Given the description of an element on the screen output the (x, y) to click on. 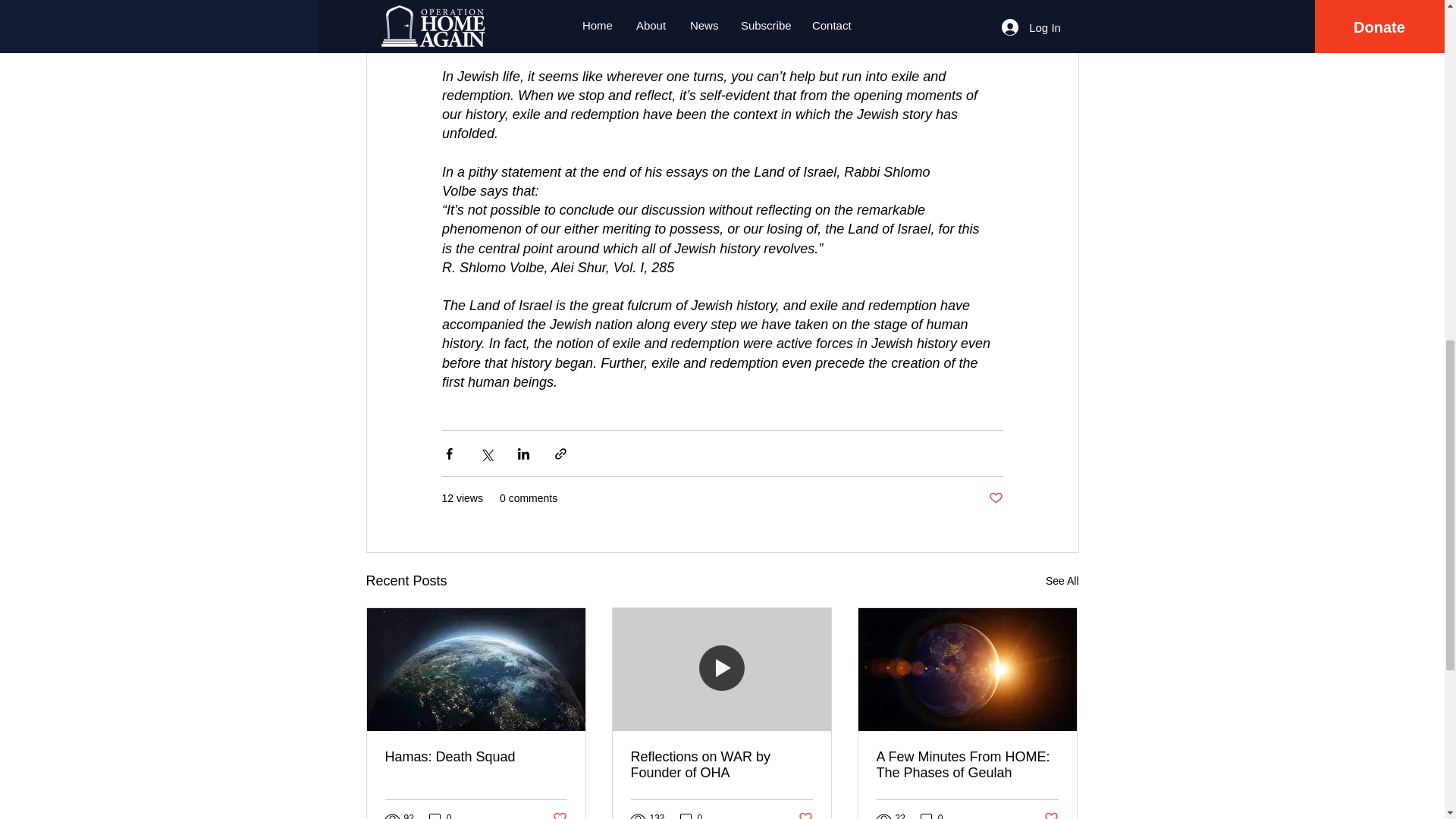
0 (440, 815)
Post not marked as liked (1050, 814)
Post not marked as liked (558, 814)
Post not marked as liked (995, 498)
See All (1061, 581)
Hamas: Death Squad (476, 756)
Reflections on WAR by Founder of OHA (721, 765)
0 (931, 815)
Post not marked as liked (804, 814)
A Few Minutes From HOME: The Phases of Geulah (967, 765)
